Given the description of an element on the screen output the (x, y) to click on. 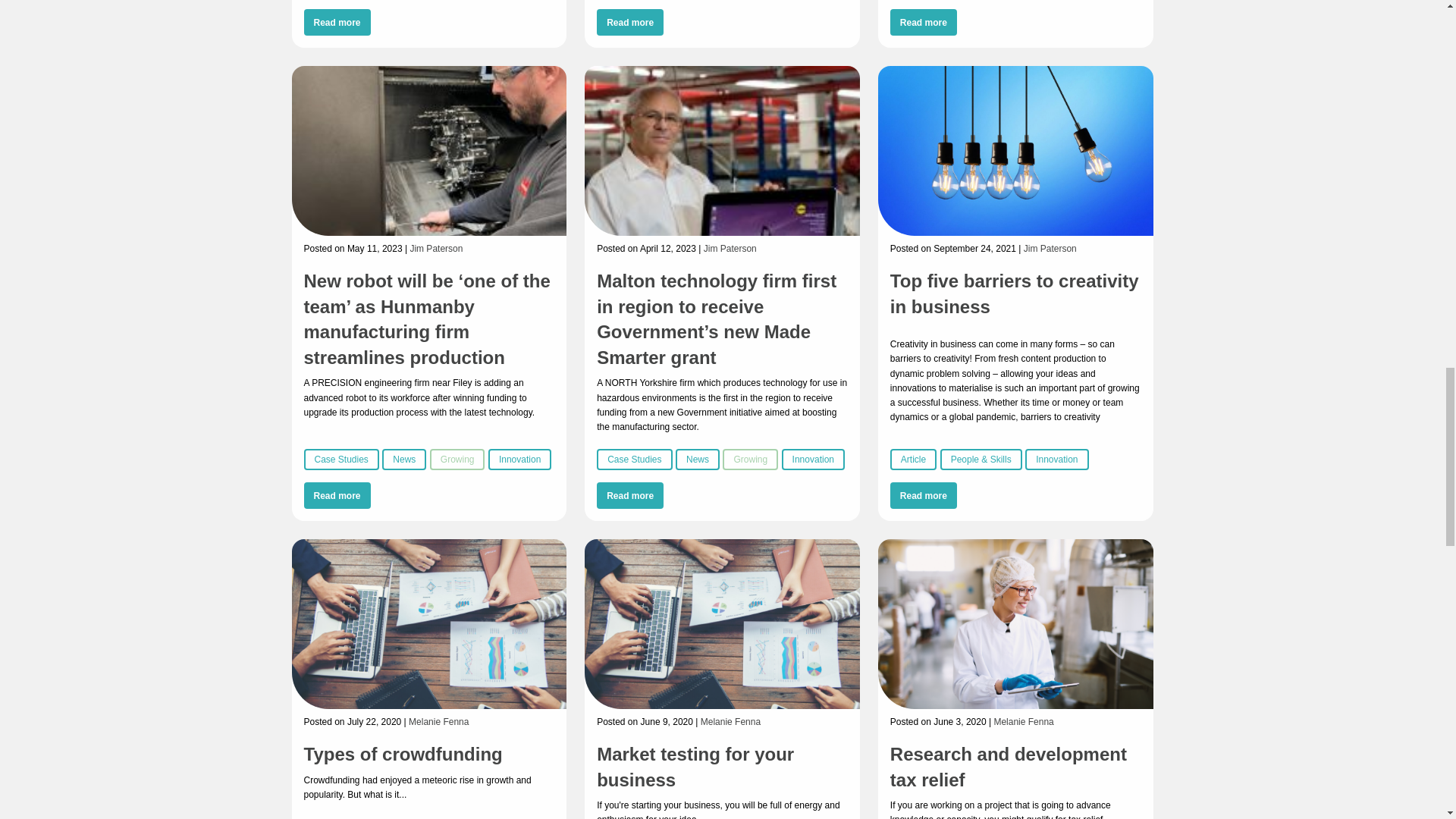
Posts by Melanie Fenna (730, 721)
Posts by Jim Paterson (730, 248)
Market testing for your business (694, 766)
Posts by Jim Paterson (1050, 248)
Posts by Jim Paterson (436, 248)
Top five barriers to creativity in business (1013, 293)
Types of crowdfunding (402, 753)
Posts by Melanie Fenna (438, 721)
Posts by Melanie Fenna (1022, 721)
